Given the description of an element on the screen output the (x, y) to click on. 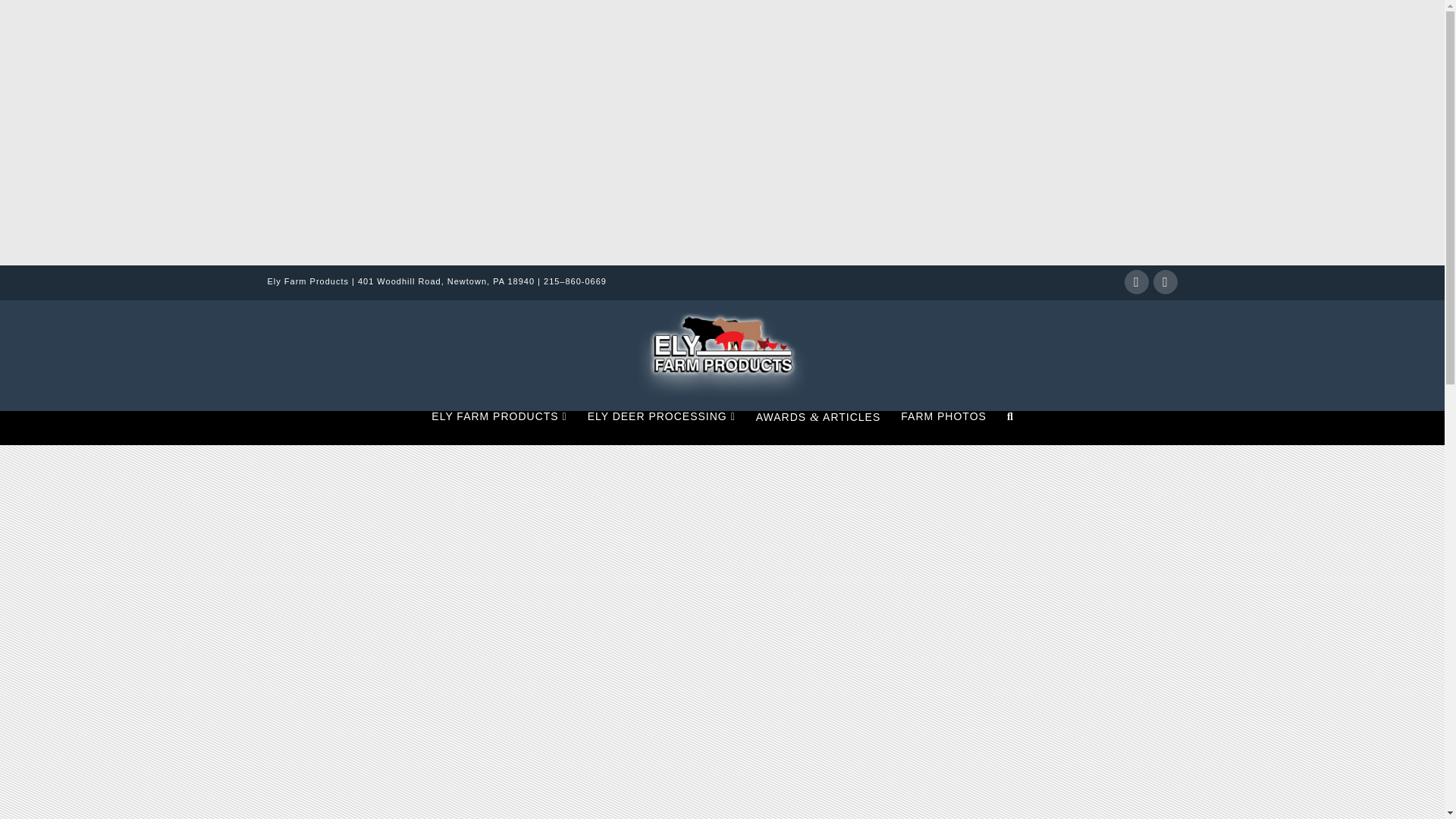
FARM PHOTOS (942, 428)
LinkedIn (1164, 282)
ELY FARM PRODUCTS (498, 428)
ELY DEER PROCESSING (660, 428)
